Given the description of an element on the screen output the (x, y) to click on. 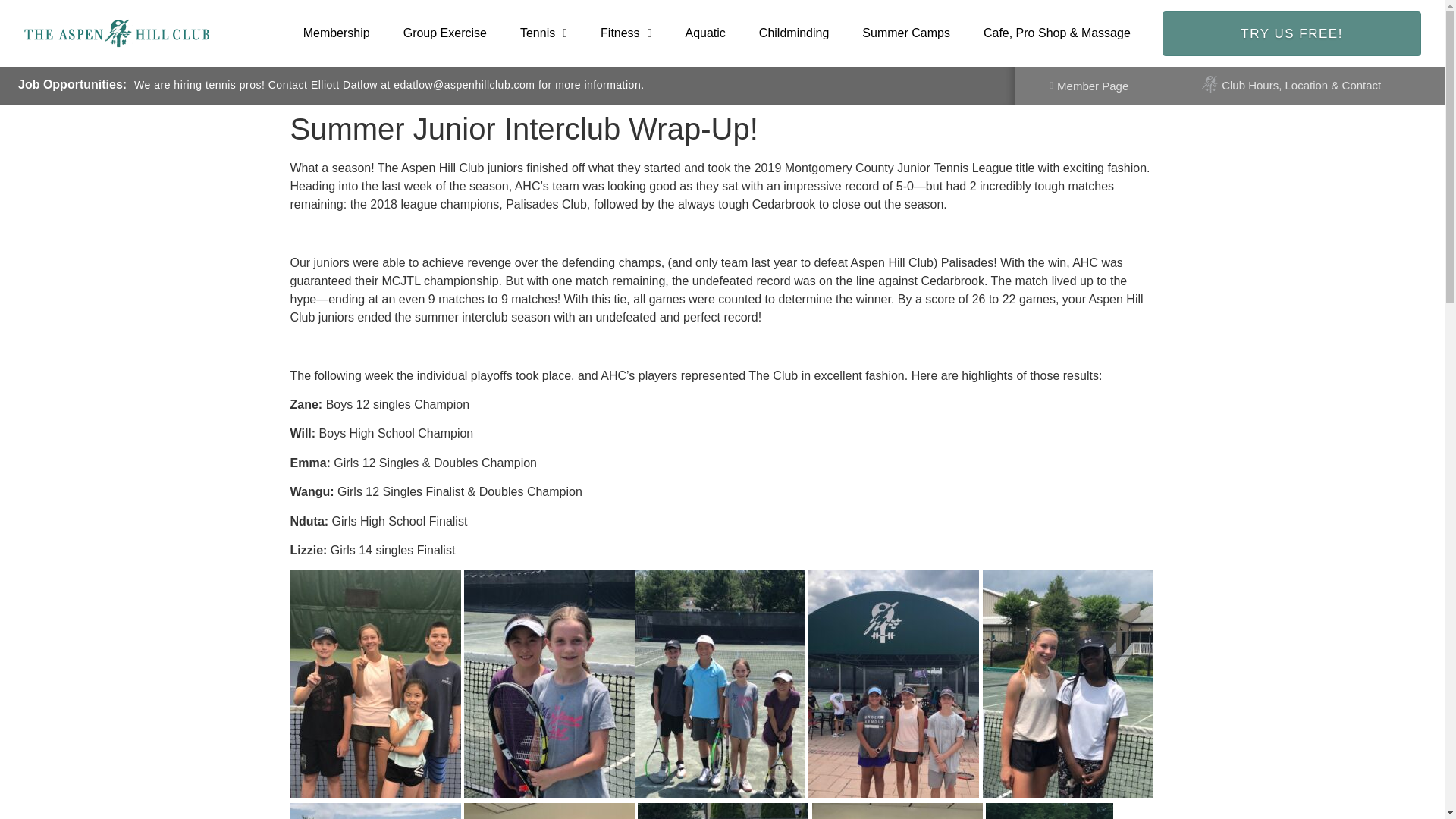
Summer Camps (905, 33)
Childminding (793, 33)
Aquatic (704, 33)
Tennis (543, 33)
TRY US FREE! (1291, 32)
Membership (336, 33)
Group Exercise (445, 33)
Fitness (625, 33)
